Given the description of an element on the screen output the (x, y) to click on. 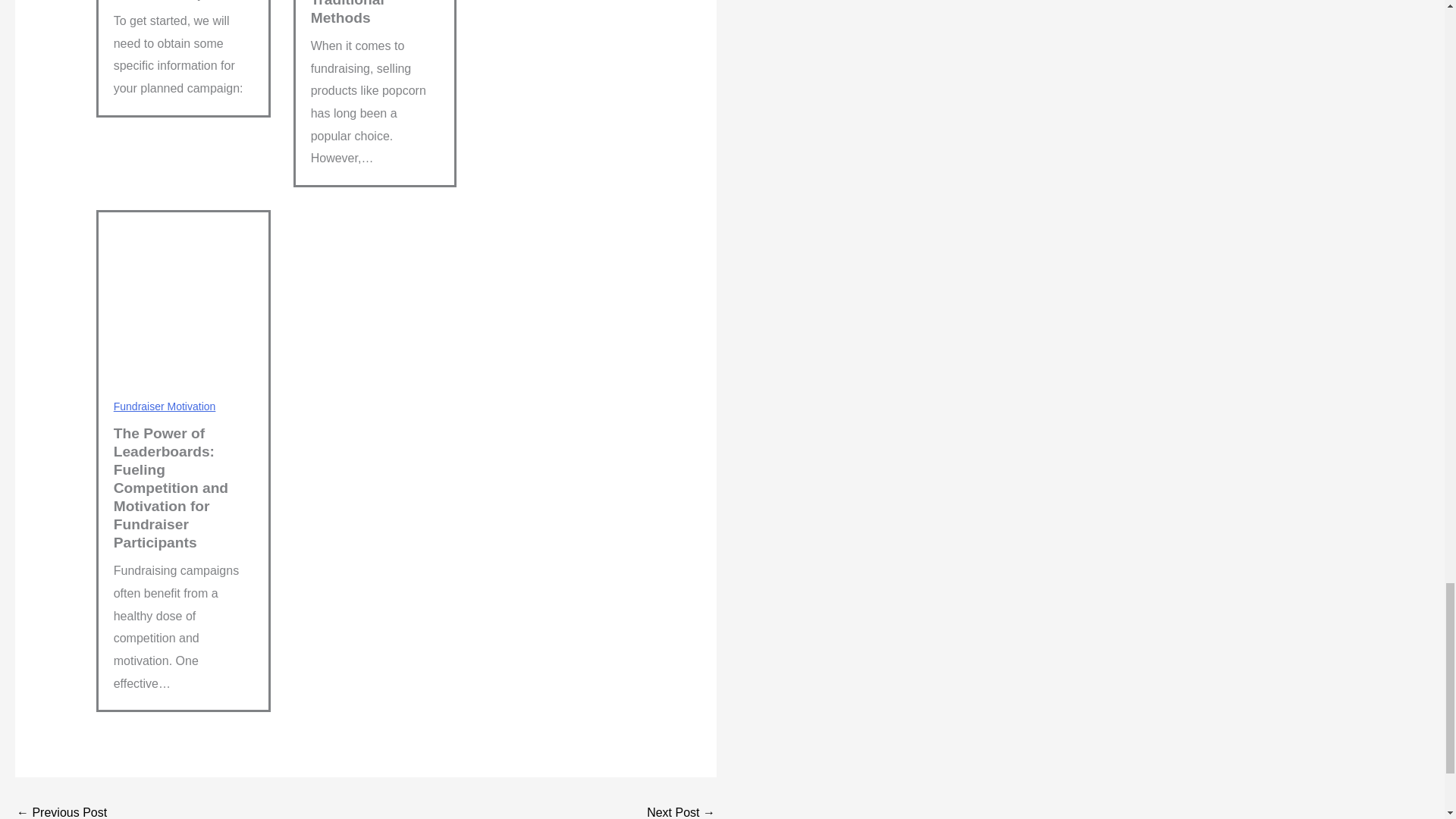
Fundraiser Motivation (164, 406)
